Given the description of an element on the screen output the (x, y) to click on. 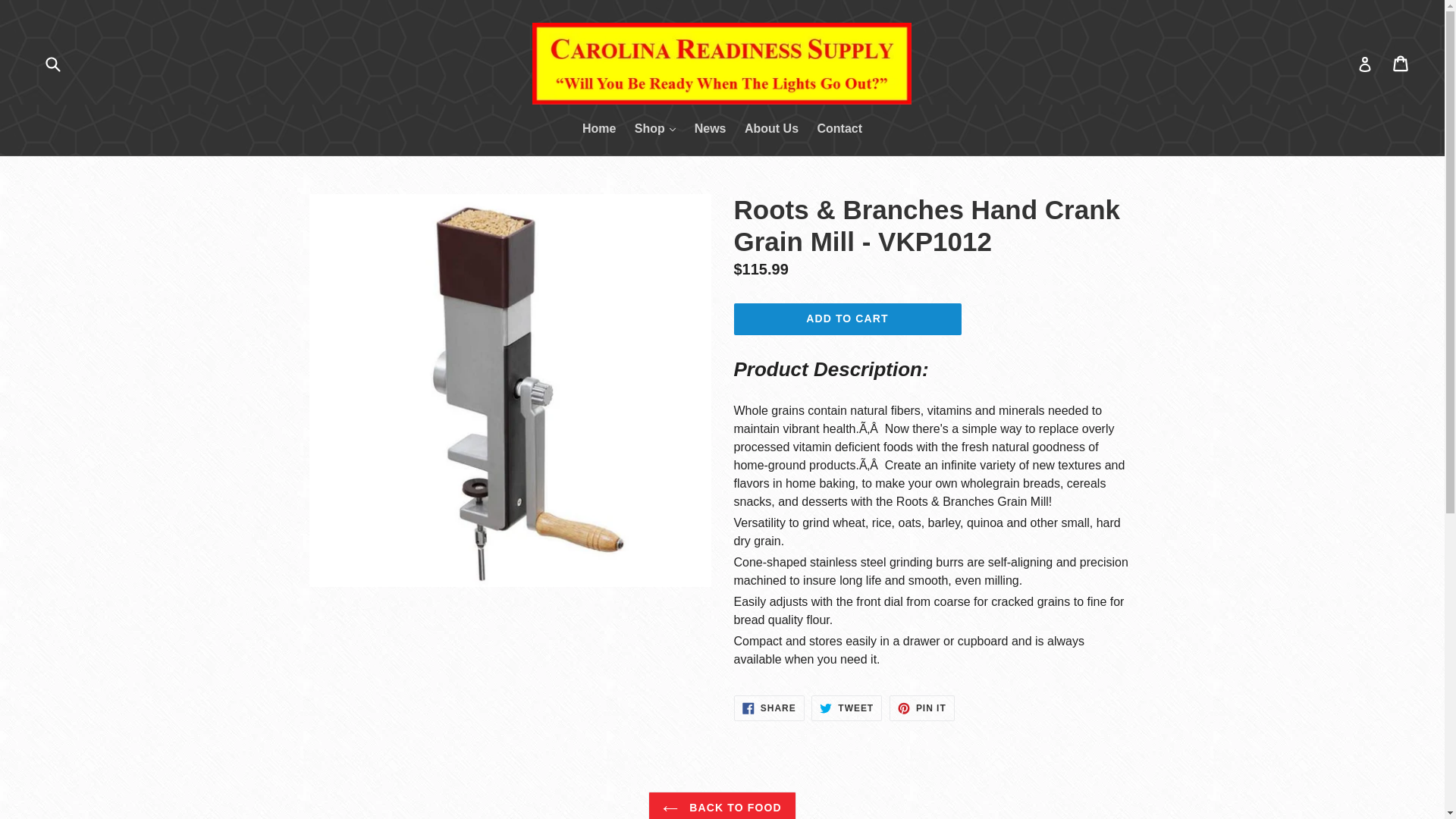
Tweet on Twitter (846, 708)
Share on Facebook (769, 708)
Pin on Pinterest (922, 708)
